Given the description of an element on the screen output the (x, y) to click on. 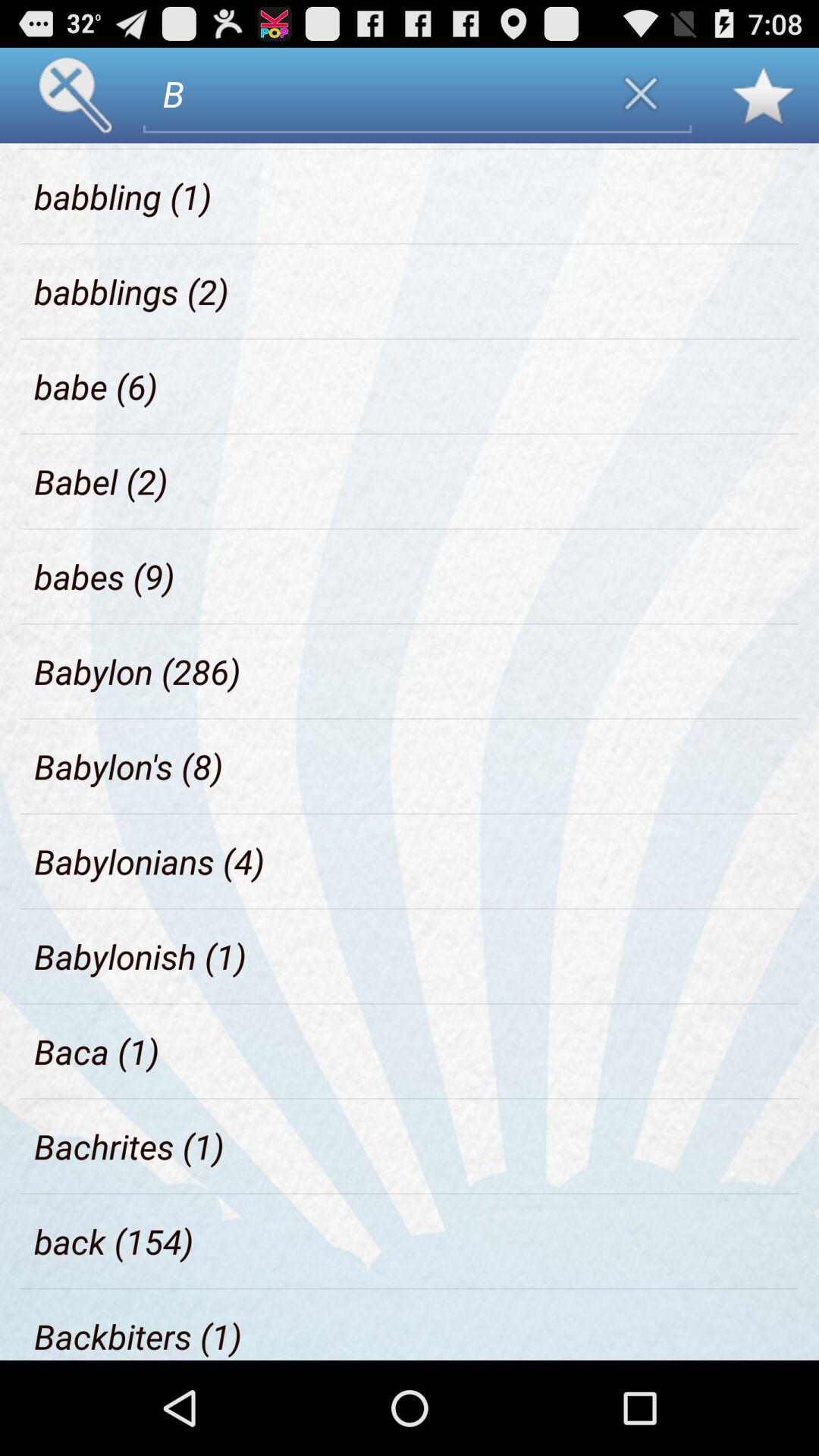
click the babe (6) (96, 386)
